Given the description of an element on the screen output the (x, y) to click on. 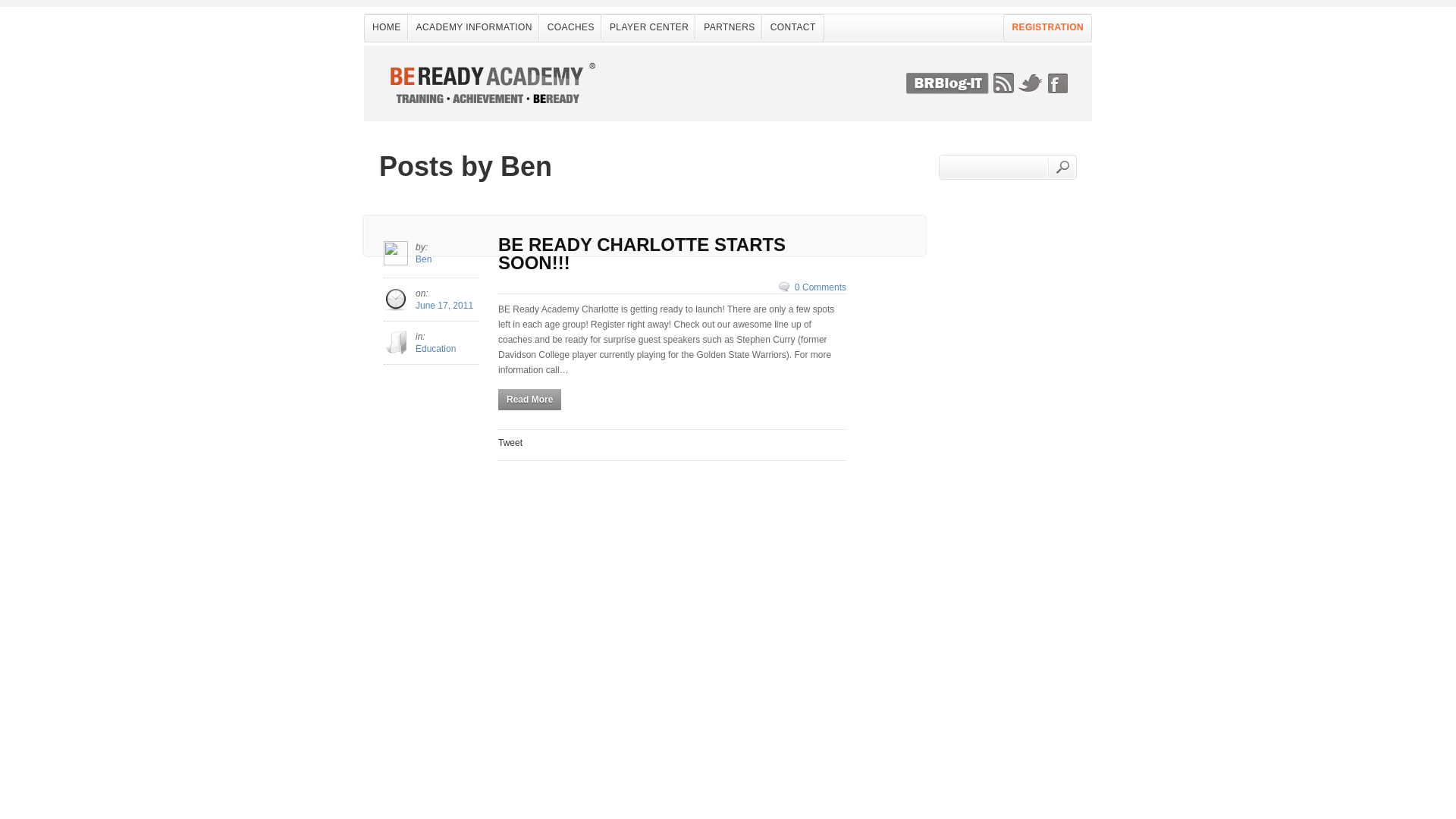
Posts by Ben (422, 258)
ACADEMY INFORMATION (474, 27)
Education (434, 348)
PARTNERS (728, 27)
June 17, 2011 (443, 305)
COACHES (571, 27)
HOME (387, 27)
Read More (528, 399)
CONTACT (793, 27)
BE READY CHARLOTTE STARTS SOON!!! (671, 253)
